Given the description of an element on the screen output the (x, y) to click on. 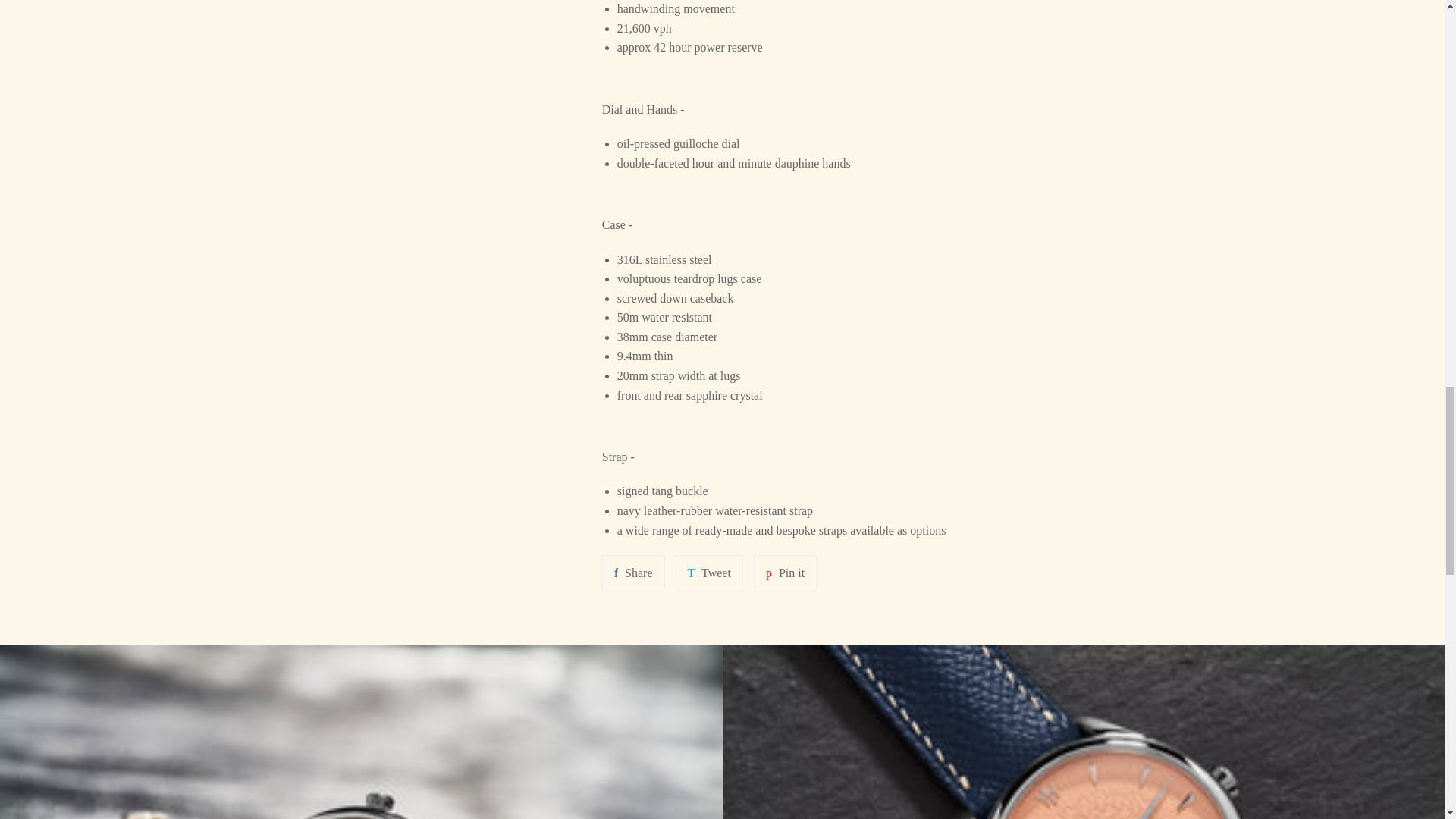
Tweet on Twitter (785, 573)
Pin on Pinterest (708, 573)
Share on Facebook (633, 573)
